Given the description of an element on the screen output the (x, y) to click on. 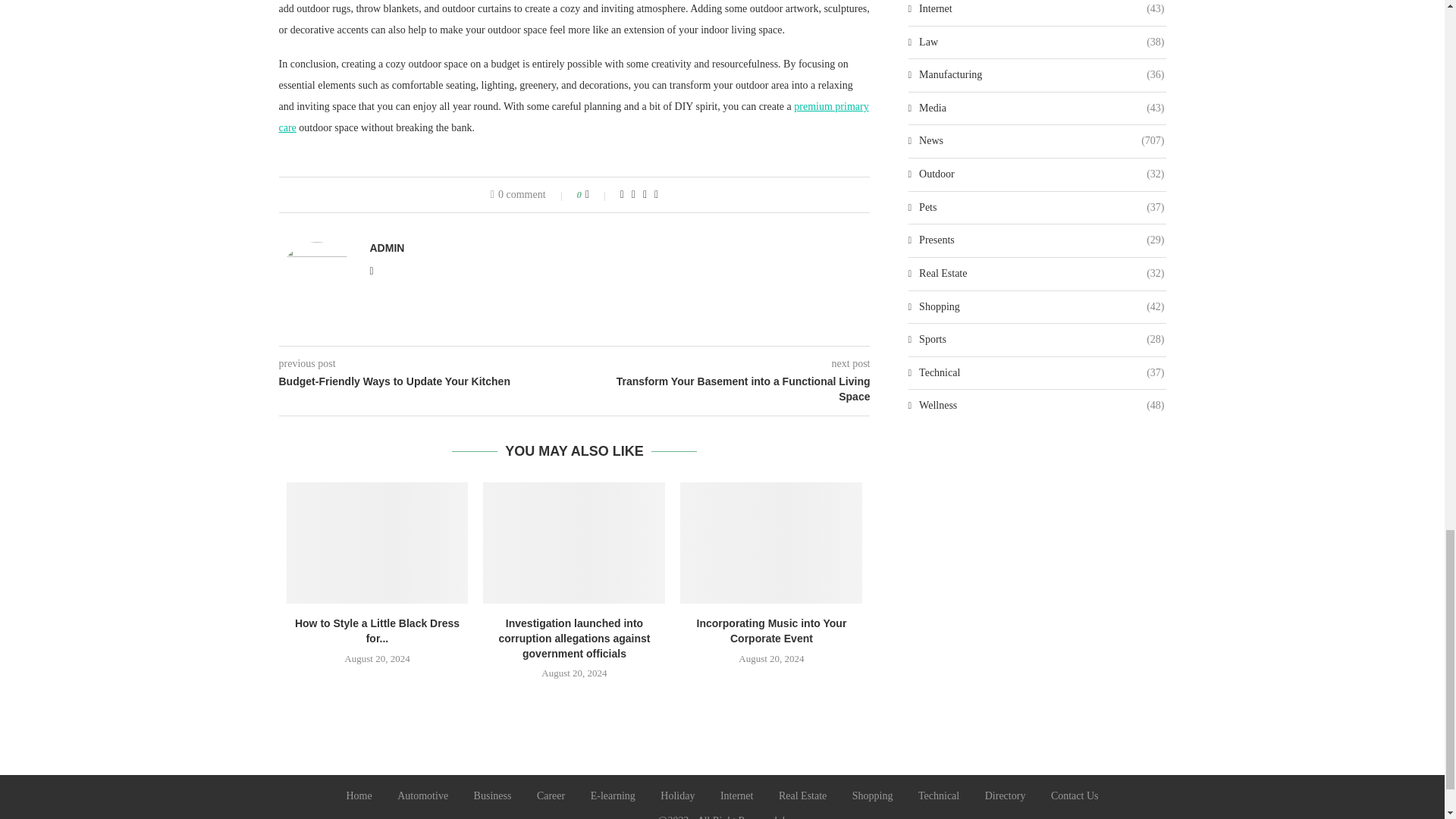
Budget-Friendly Ways to Update Your Kitchen (427, 381)
ADMIN (386, 247)
Like (597, 194)
Incorporating Music into Your Corporate Event (770, 542)
Transform Your Basement into a Functional Living Space (722, 389)
How to Style a Little Black Dress for... (377, 630)
Author admin (386, 247)
Incorporating Music into Your Corporate Event (772, 630)
How to Style a Little Black Dress for Every Occasion (377, 542)
